Given the description of an element on the screen output the (x, y) to click on. 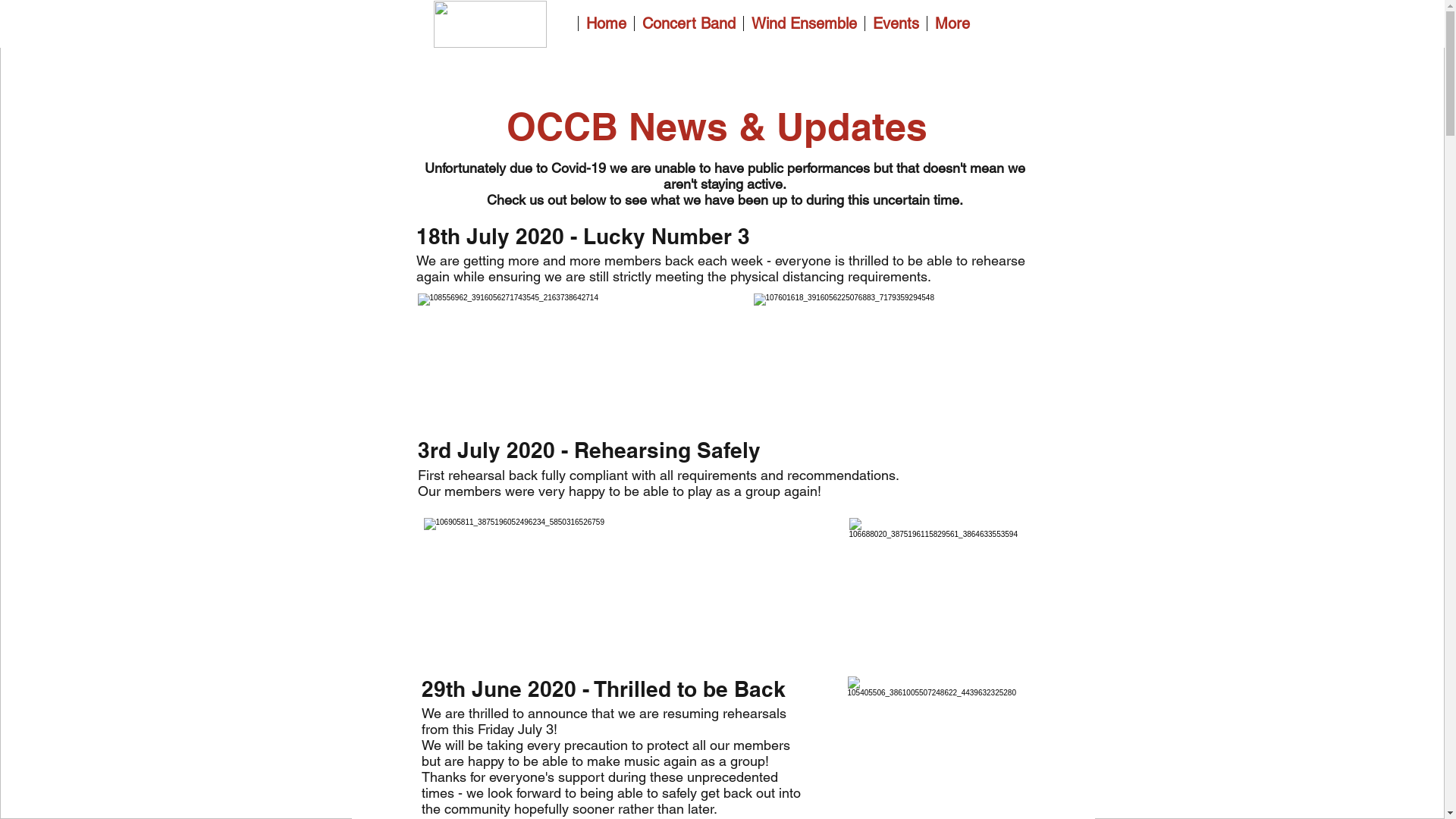
Events Element type: text (895, 23)
OCCB logo-v-transparent.png Element type: hover (489, 23)
Concert Band Element type: text (688, 23)
Wind Ensemble Element type: text (803, 23)
Home Element type: text (605, 23)
